Given the description of an element on the screen output the (x, y) to click on. 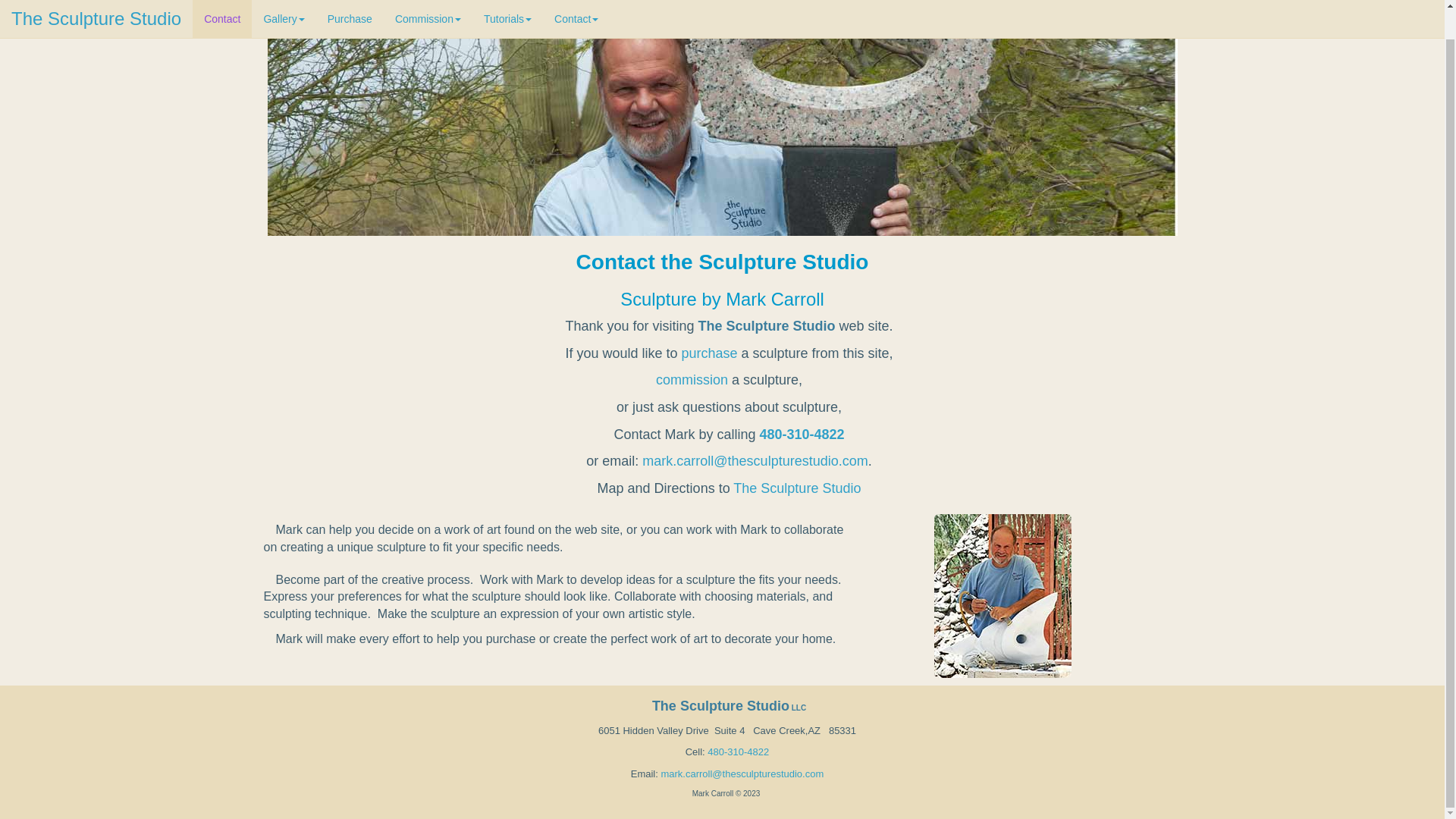
purchase (708, 353)
480-310-4822 (801, 434)
The Sculpture Studio (796, 488)
commission (692, 379)
480-310-4822 (737, 751)
Purchase (349, 4)
Tutorials (507, 4)
The Sculpture Studio (96, 4)
Gallery (283, 4)
Contact (576, 4)
